Given the description of an element on the screen output the (x, y) to click on. 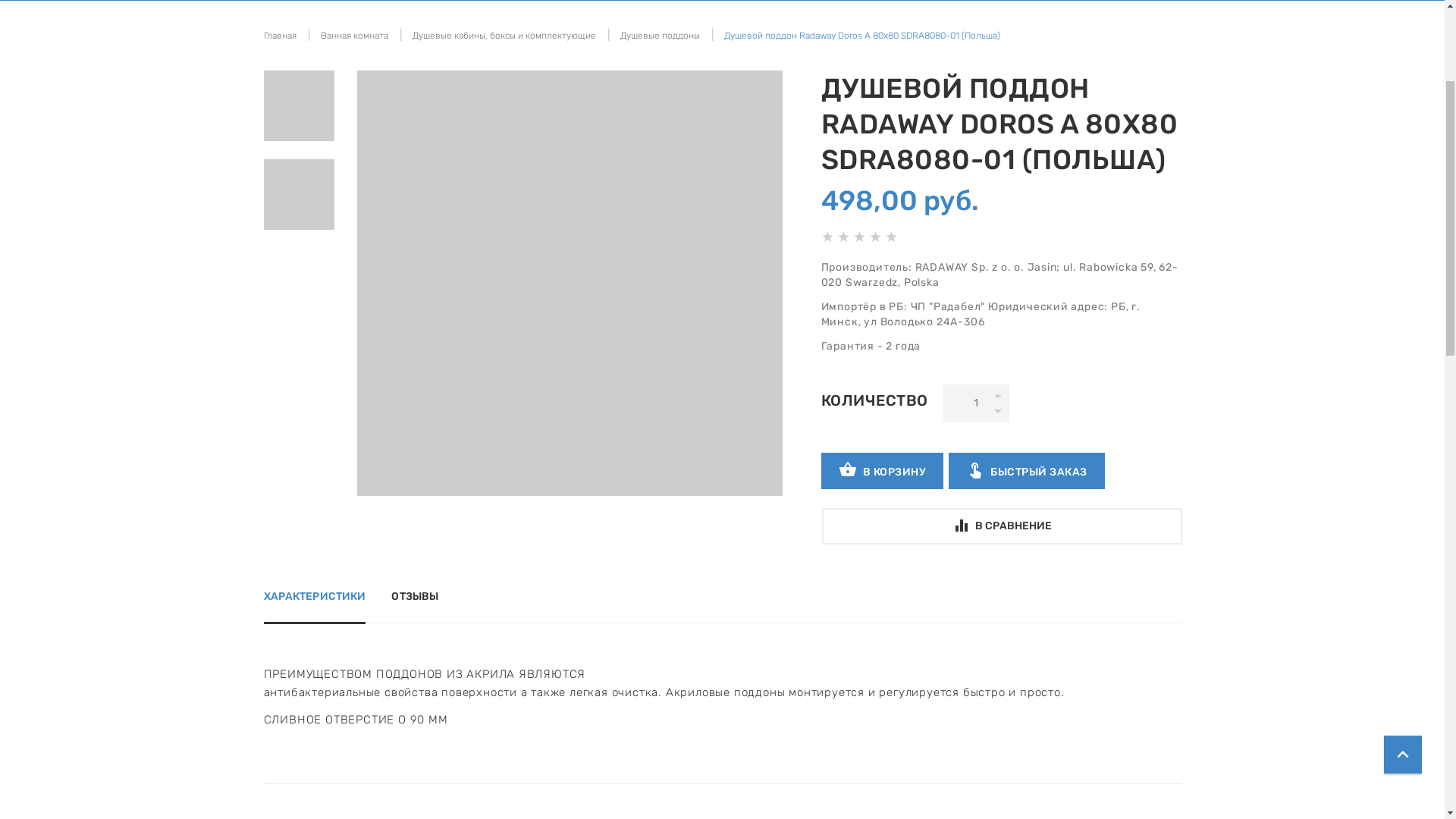
Viber Element type: hover (503, 86)
WhatsUp Element type: hover (525, 86)
+375(29)88 363 11 Element type: text (559, 50)
101vanna.shop.by Element type: hover (343, 49)
Telegram Element type: hover (544, 86)
+375(44)595 85 86 Element type: text (560, 33)
